Given the description of an element on the screen output the (x, y) to click on. 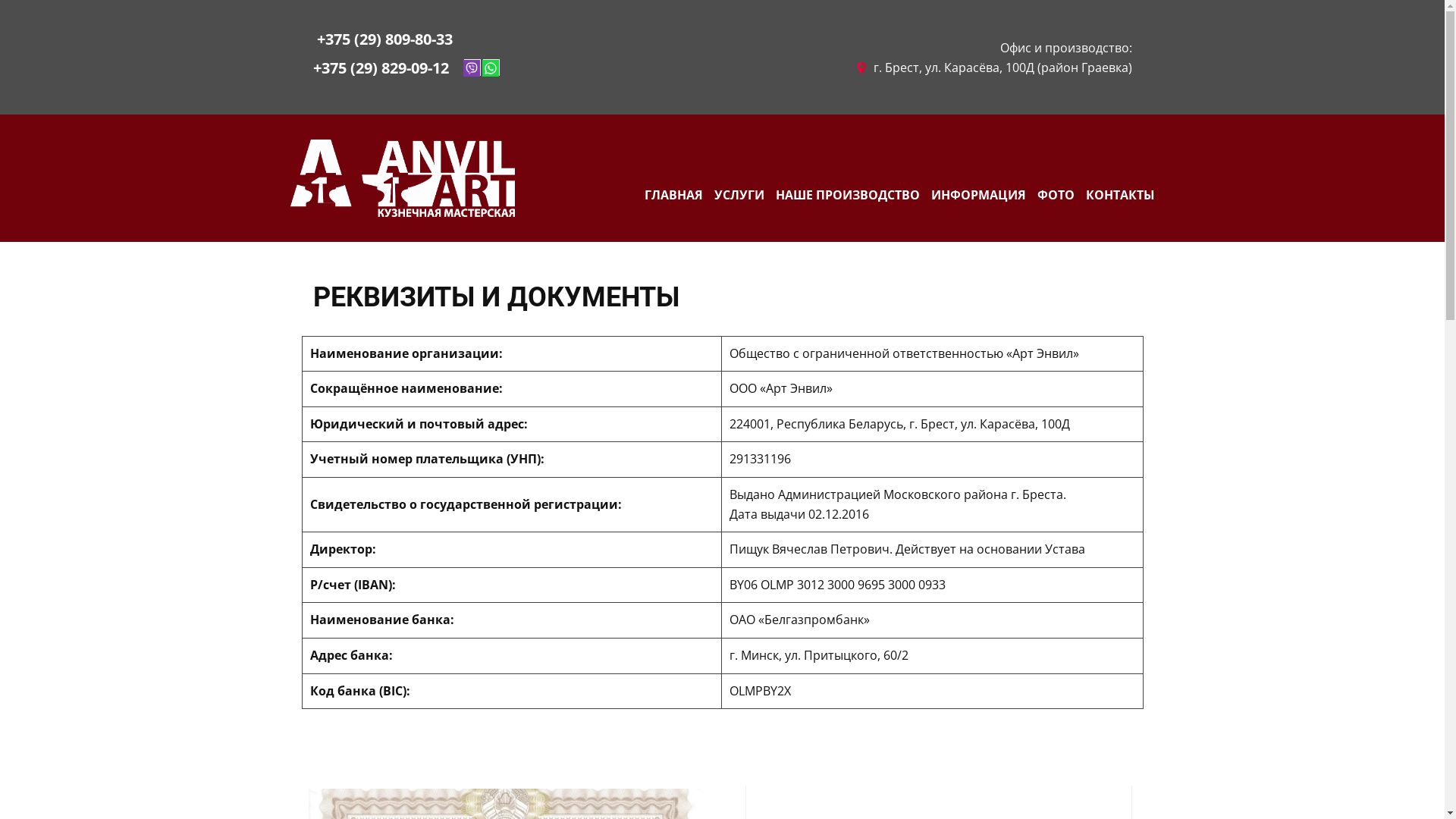
 +375 (29) 809-80-33 Element type: text (381, 40)
+375 (29) 829-09-12 Element type: text (380, 68)
